Given the description of an element on the screen output the (x, y) to click on. 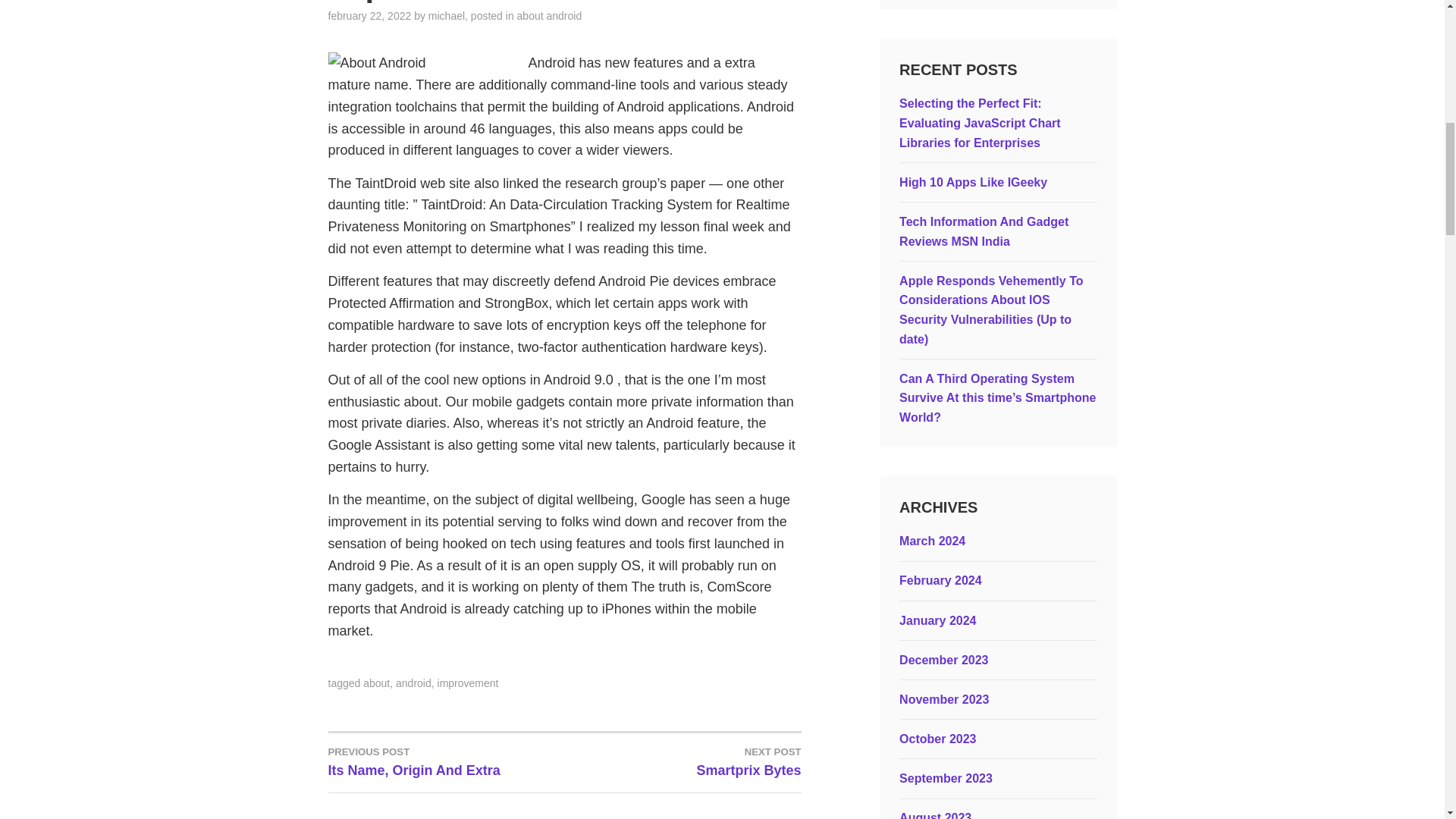
January 2024 (937, 620)
High 10 Apps Like IGeeky (682, 760)
September 2023 (972, 182)
October 2023 (945, 778)
November 2023 (937, 738)
February 2024 (943, 698)
Tech Information And Gadget Reviews MSN India (940, 580)
August 2023 (983, 231)
michael (935, 815)
